Given the description of an element on the screen output the (x, y) to click on. 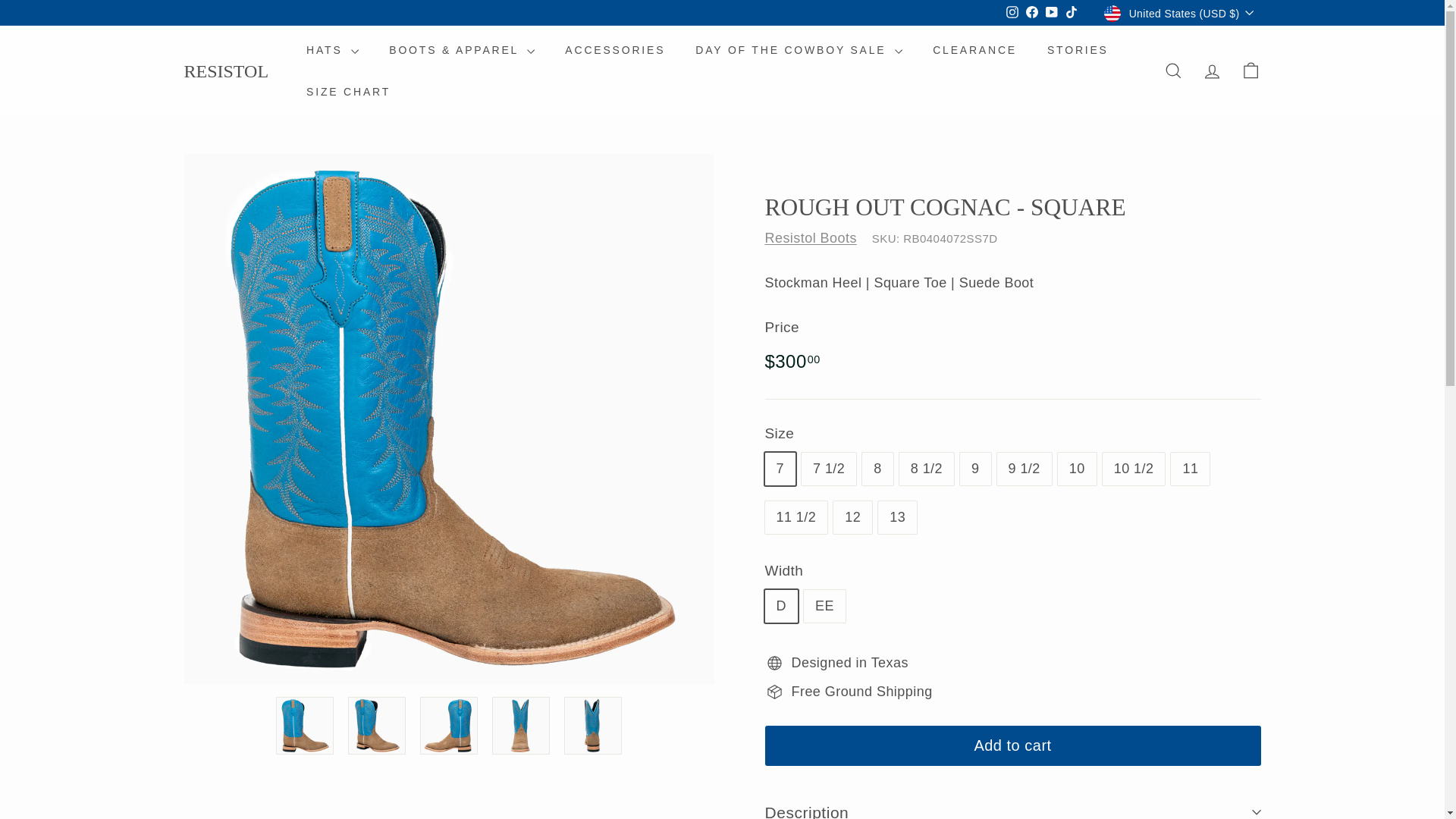
Resistol Boots (810, 237)
instagram (1011, 11)
